Given the description of an element on the screen output the (x, y) to click on. 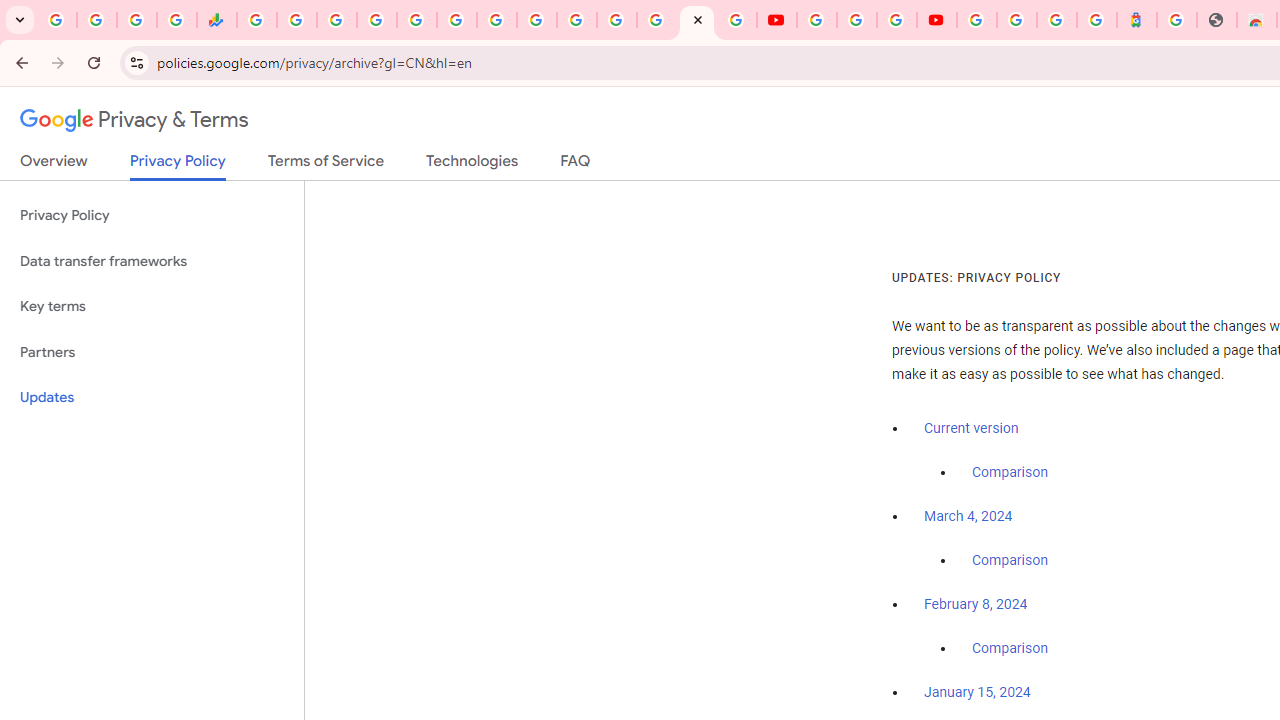
YouTube (776, 20)
March 4, 2024 (968, 517)
January 15, 2024 (977, 693)
YouTube (536, 20)
Sign in - Google Accounts (977, 20)
Key terms (152, 306)
Current version (971, 428)
Sign in - Google Accounts (576, 20)
February 8, 2024 (975, 605)
